Given the description of an element on the screen output the (x, y) to click on. 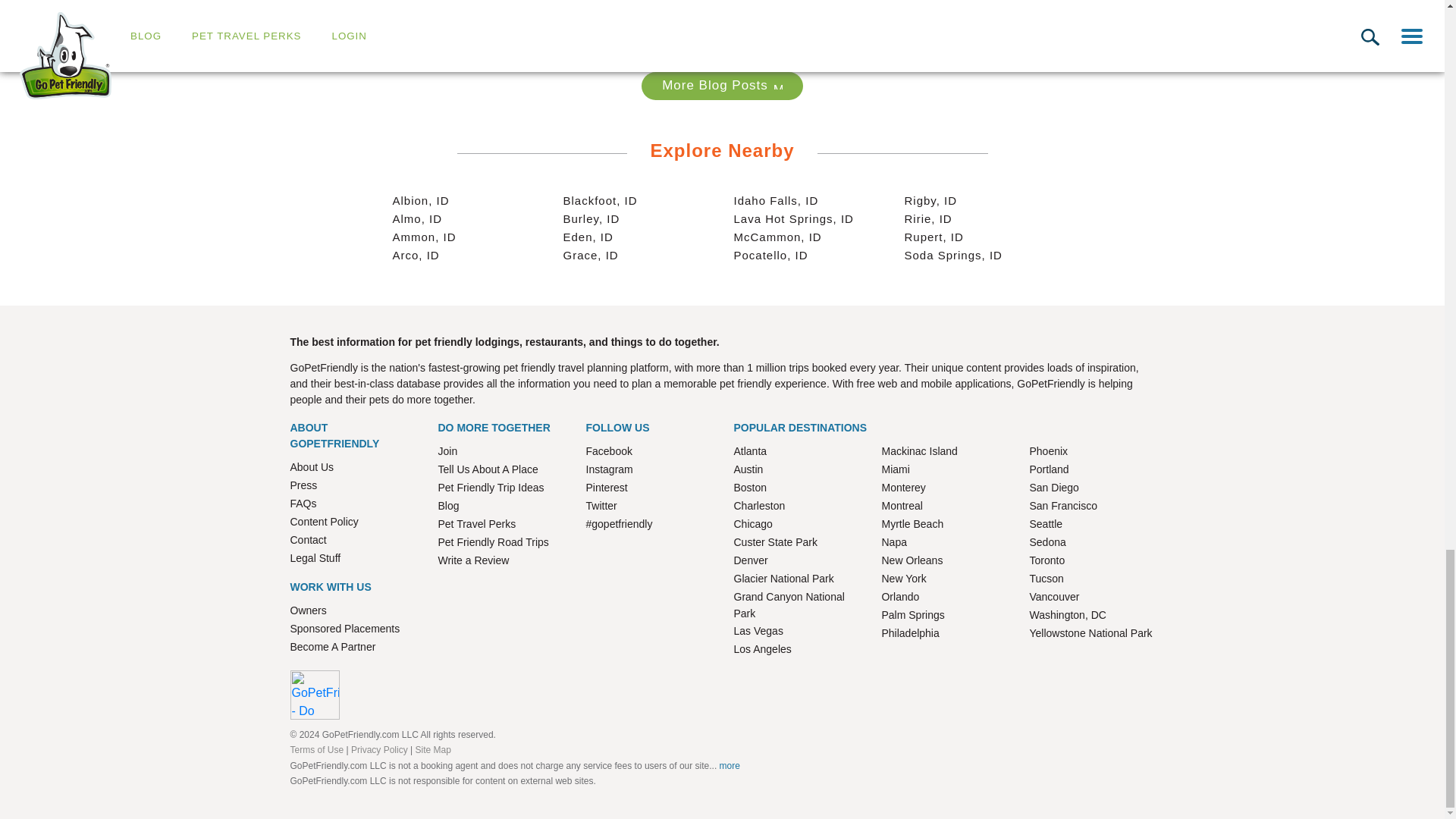
Albion, ID (421, 200)
Almo, ID (417, 218)
More Blog Posts (722, 85)
Blackfoot, ID (599, 200)
Arco, ID (416, 254)
More Blog Posts (778, 84)
Ammon, ID (425, 236)
